Given the description of an element on the screen output the (x, y) to click on. 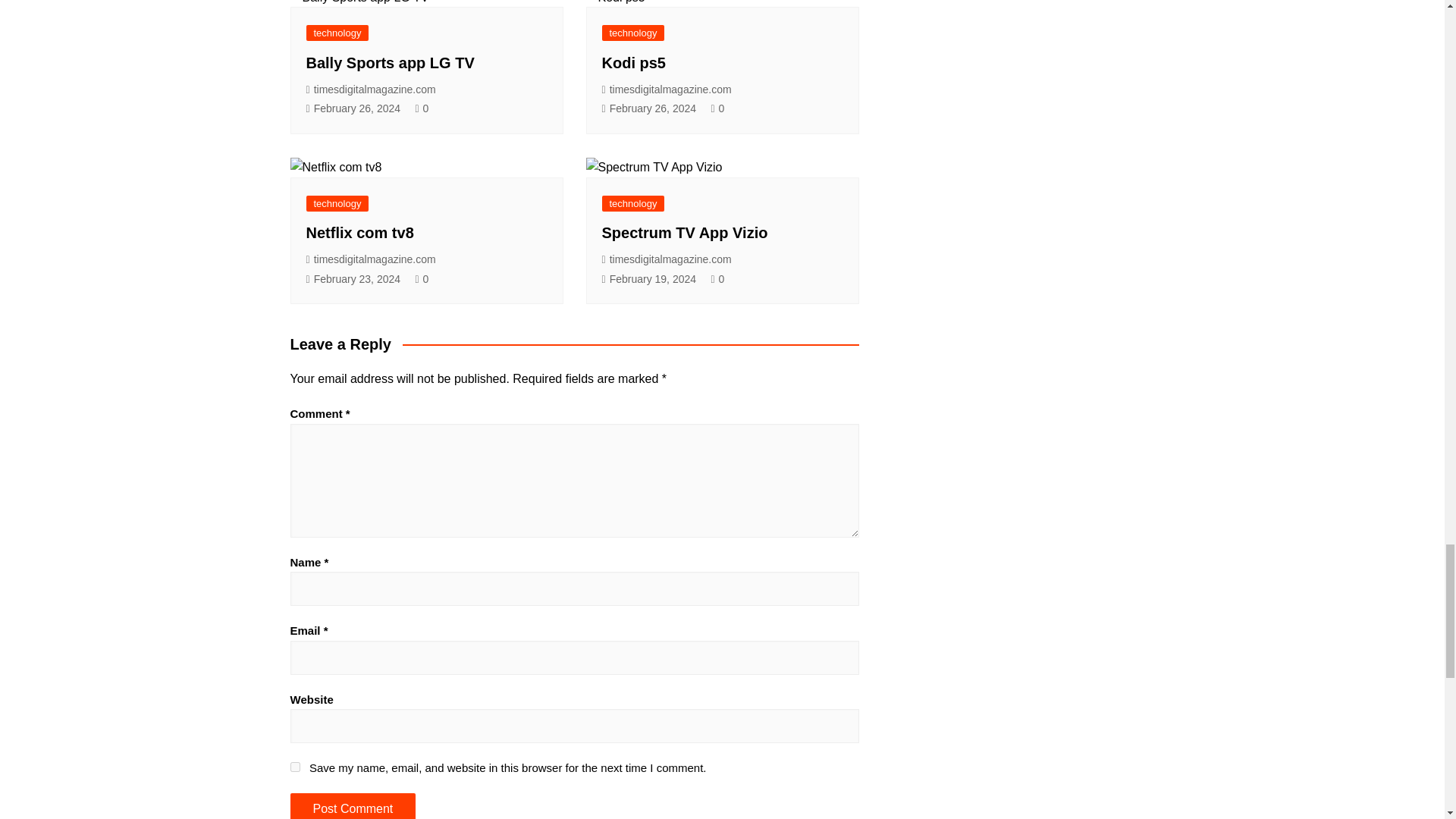
Post Comment (351, 806)
yes (294, 767)
